Given the description of an element on the screen output the (x, y) to click on. 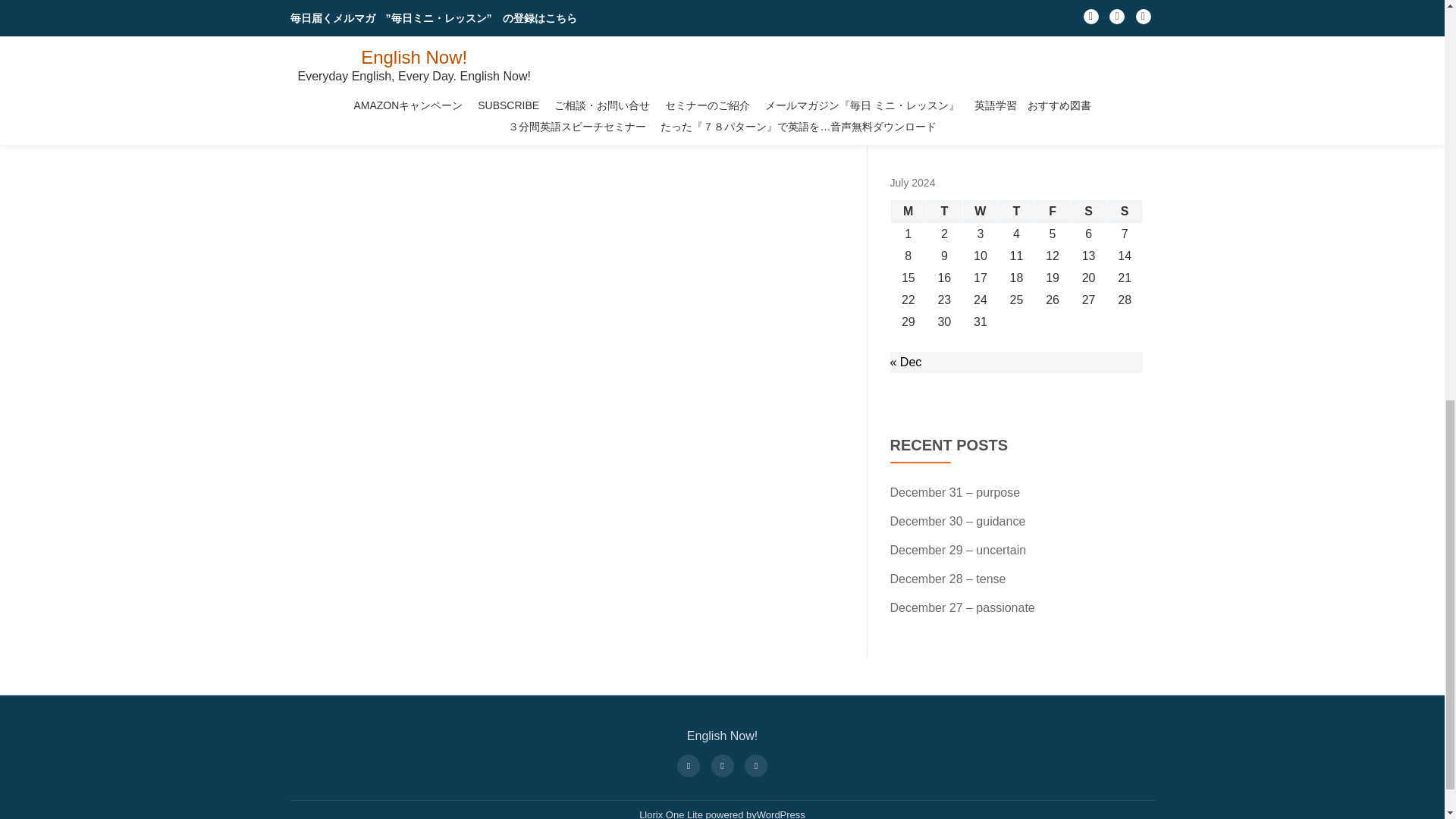
Sunday (1124, 210)
Wednesday (980, 210)
Friday (1052, 210)
fa-google-plus-square (756, 764)
WordPress (781, 814)
Llorix One Lite (671, 814)
fa-twitter (721, 764)
Tuesday (944, 210)
Thursday (1015, 210)
fa-facebook (687, 764)
Monday (907, 210)
Saturday (1088, 210)
